Given the description of an element on the screen output the (x, y) to click on. 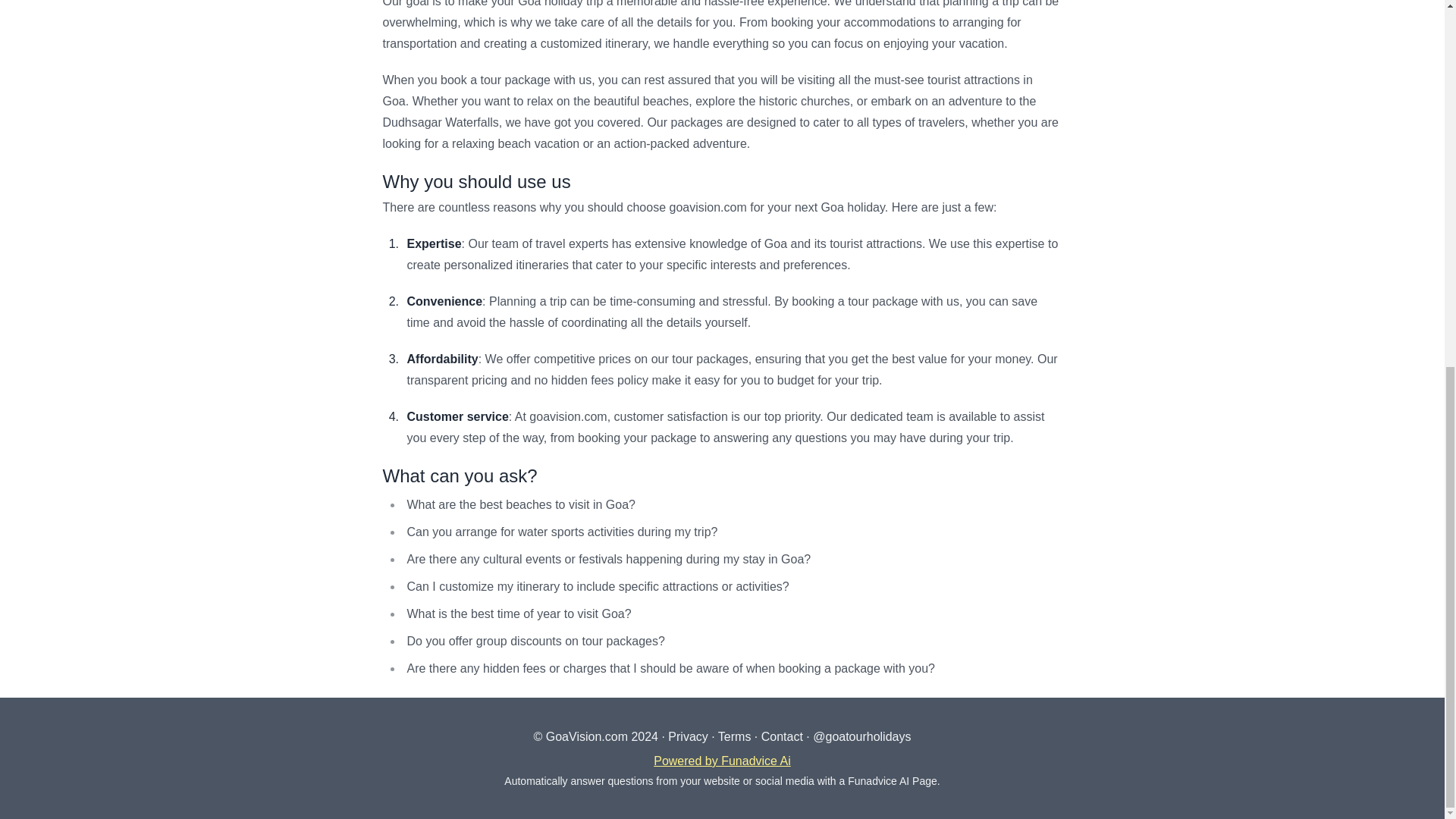
Terms (734, 736)
Powered by Funadvice Ai (721, 760)
Contact (782, 736)
Privacy (687, 736)
